Given the description of an element on the screen output the (x, y) to click on. 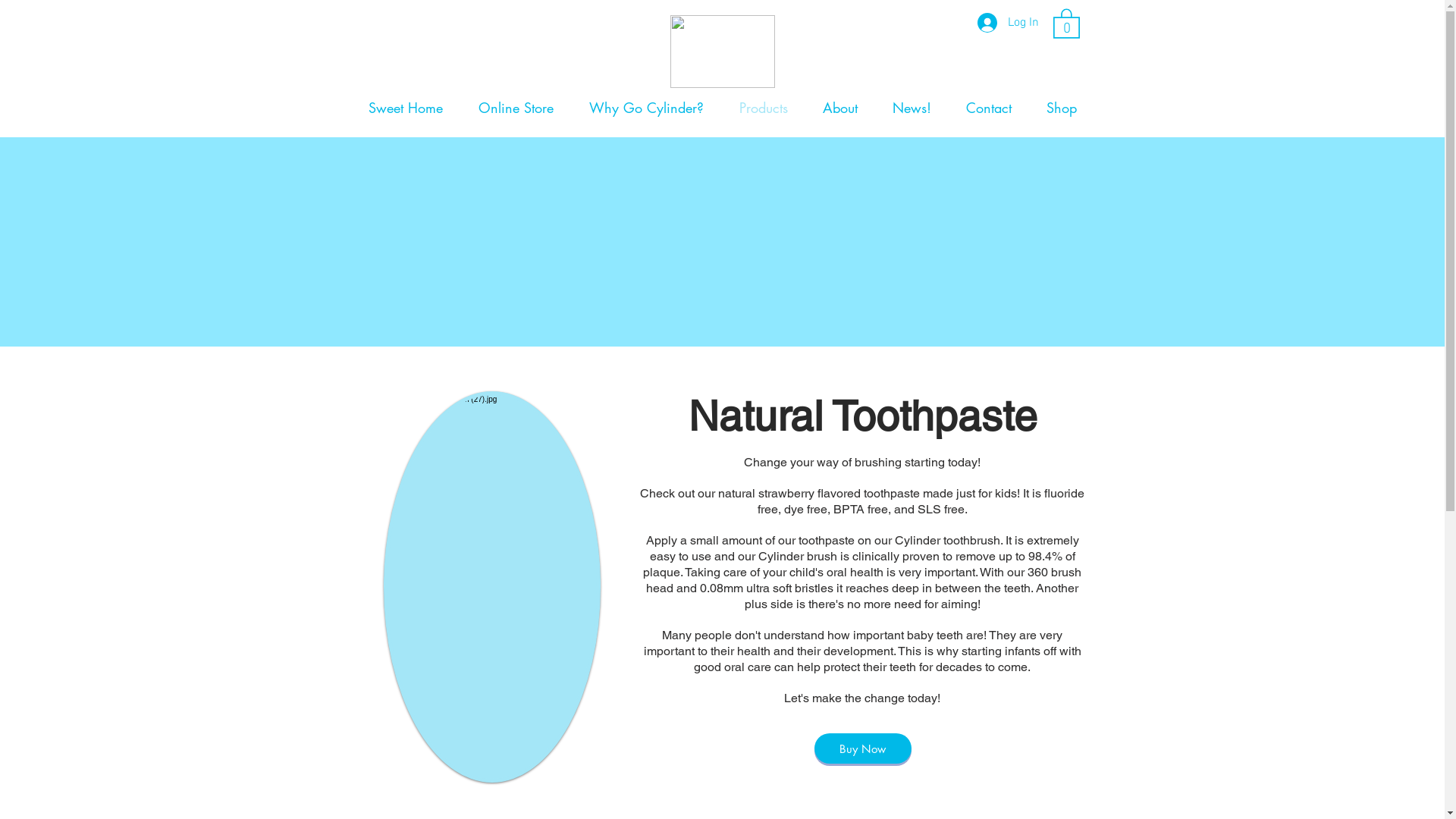
Products Element type: text (763, 107)
Shop Element type: text (1060, 107)
Sweet Home Element type: text (405, 107)
About Element type: text (840, 107)
Why Go Cylinder? Element type: text (646, 107)
Log In Element type: text (1007, 22)
0 Element type: text (1065, 22)
Buy Now Element type: text (862, 748)
Contact Element type: text (987, 107)
Online Store Element type: text (516, 107)
News! Element type: text (911, 107)
